Given the description of an element on the screen output the (x, y) to click on. 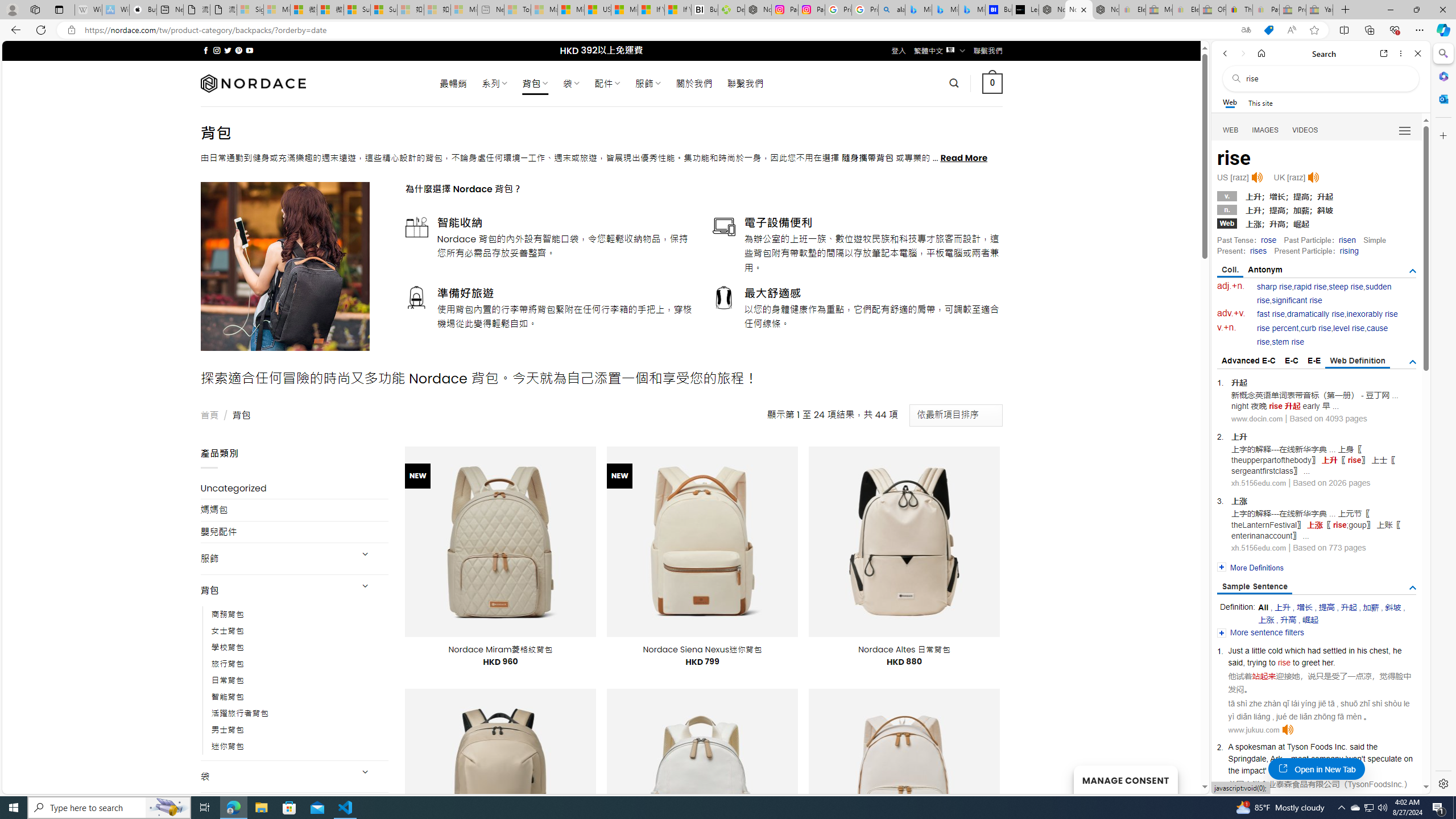
cold (1275, 650)
rapid rise (1310, 286)
company (1326, 758)
stem rise (1287, 341)
 0  (992, 83)
